Given the description of an element on the screen output the (x, y) to click on. 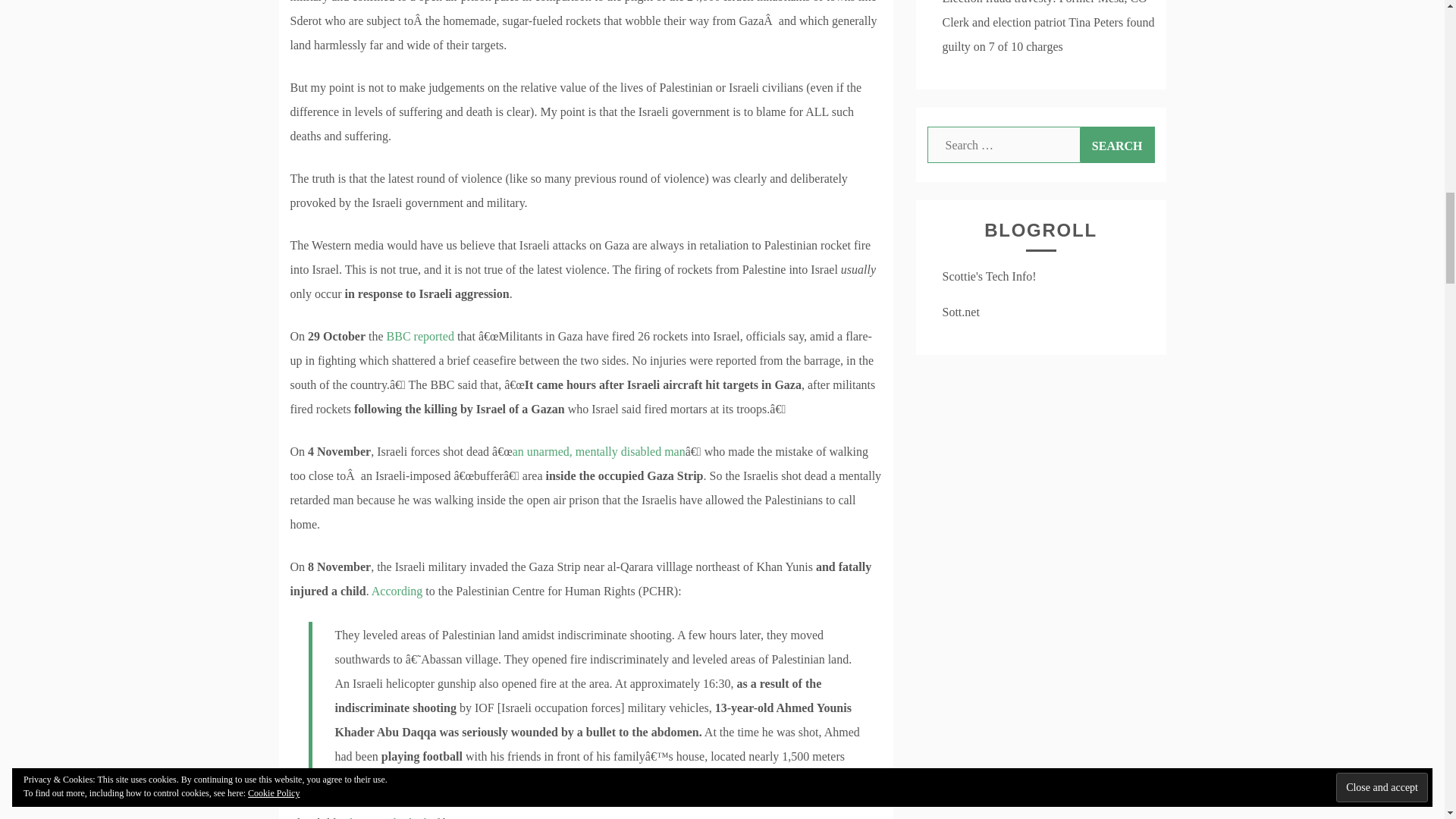
BBC reported (420, 336)
an unarmed, mentally disabled man (598, 451)
Search (1117, 144)
According (397, 590)
Search (1117, 144)
subsequently died (382, 817)
